Given the description of an element on the screen output the (x, y) to click on. 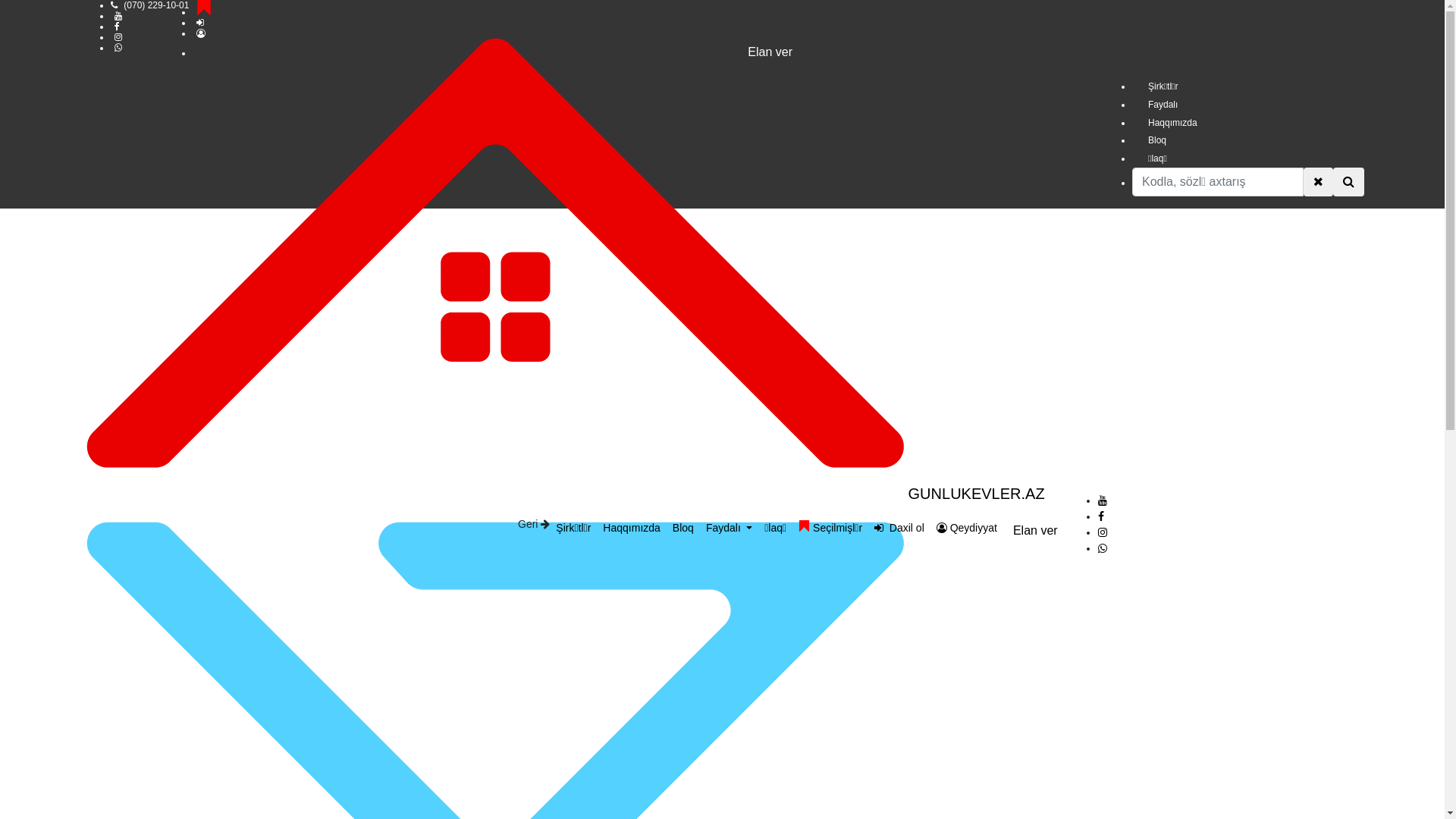
Previous Element type: text (645, 174)
3 Element type: text (667, 367)
Whatsapp Element type: hover (1102, 548)
8 Element type: text (803, 367)
Bloq Element type: text (1247, 140)
Previous Element type: text (1076, 174)
Elan ver Element type: text (1035, 530)
4 Element type: text (695, 367)
9 Element type: text (831, 367)
Instagram Element type: hover (1102, 532)
7 Element type: text (776, 367)
Previous Element type: text (861, 174)
LiveInternet: number of visitors and pageviews is shown Element type: hover (1399, 631)
 Qeydiyyat Element type: text (966, 527)
  Element type: text (201, 22)
Previous Element type: text (535, 174)
Elan ver Element type: text (737, 51)
Next Element type: text (262, 174)
Next Element type: text (507, 174)
Next Element type: text (1158, 174)
Youtube Element type: hover (118, 15)
Next Element type: text (1048, 174)
Next Element type: text (617, 174)
Next Element type: text (155, 174)
Previous Element type: text (183, 174)
Instagram Element type: hover (118, 36)
Next Element type: text (943, 174)
SON 24 SAAT : 2 ELAN Element type: text (1251, 626)
Previous Element type: text (25, 174)
Previous Element type: text (290, 174)
Next Element type: text (724, 174)
Facebook Element type: hover (1101, 516)
Previous Element type: text (425, 174)
  Daxil ol Element type: text (899, 527)
(070) 229-10-01 Element type: text (155, 5)
Previous Element type: text (752, 174)
Next Element type: text (397, 174)
Whatsapp Element type: hover (118, 47)
Facebook Element type: hover (116, 26)
Previous Element type: text (971, 174)
6 Element type: text (749, 367)
2 Element type: text (640, 367)
5 Element type: text (722, 367)
Bloq Element type: text (682, 527)
Next Element type: text (833, 174)
Youtube Element type: hover (1102, 500)
Geri Element type: text (533, 523)
